Given the description of an element on the screen output the (x, y) to click on. 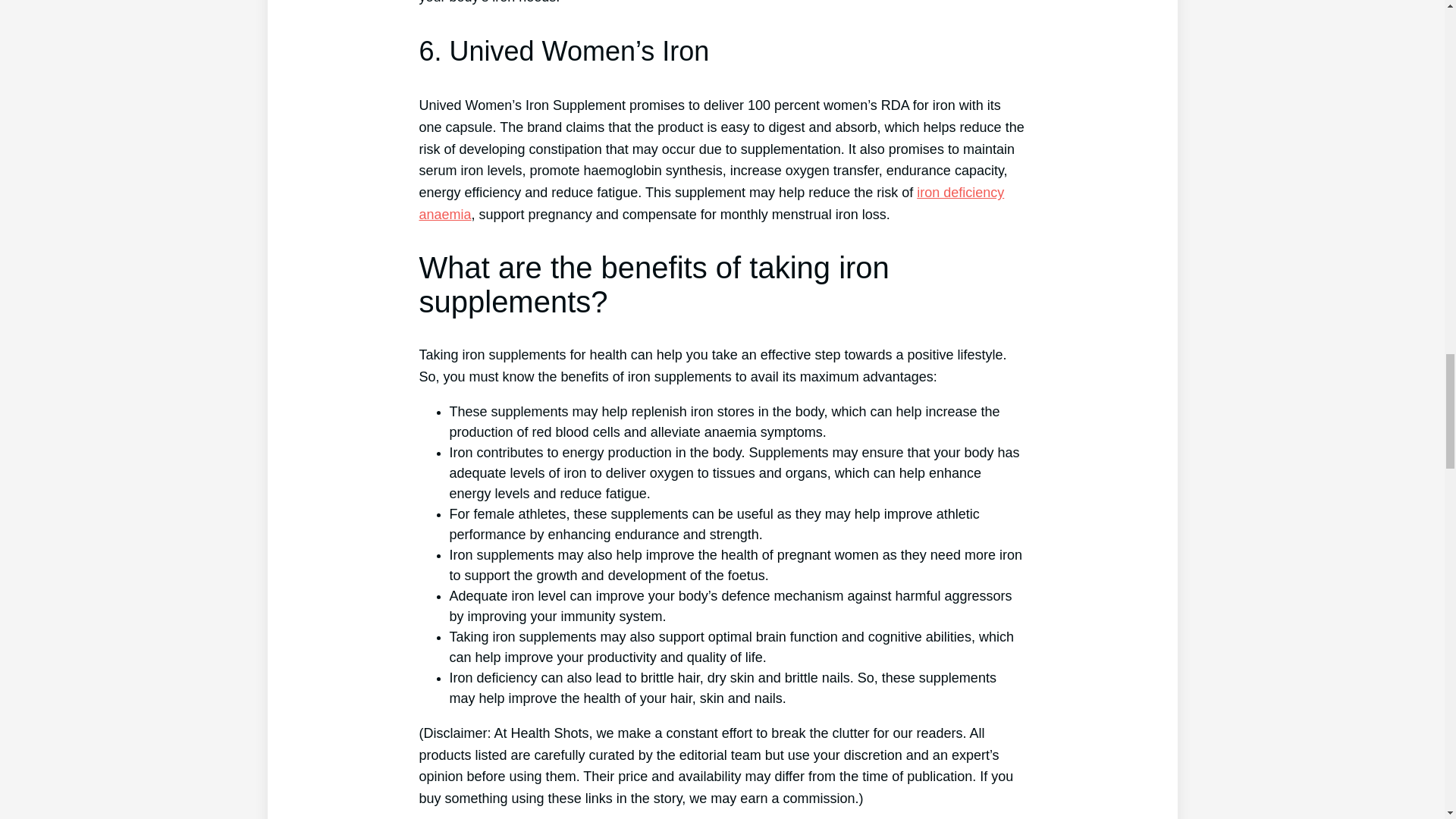
iron deficiency anaemia (711, 203)
